Given the description of an element on the screen output the (x, y) to click on. 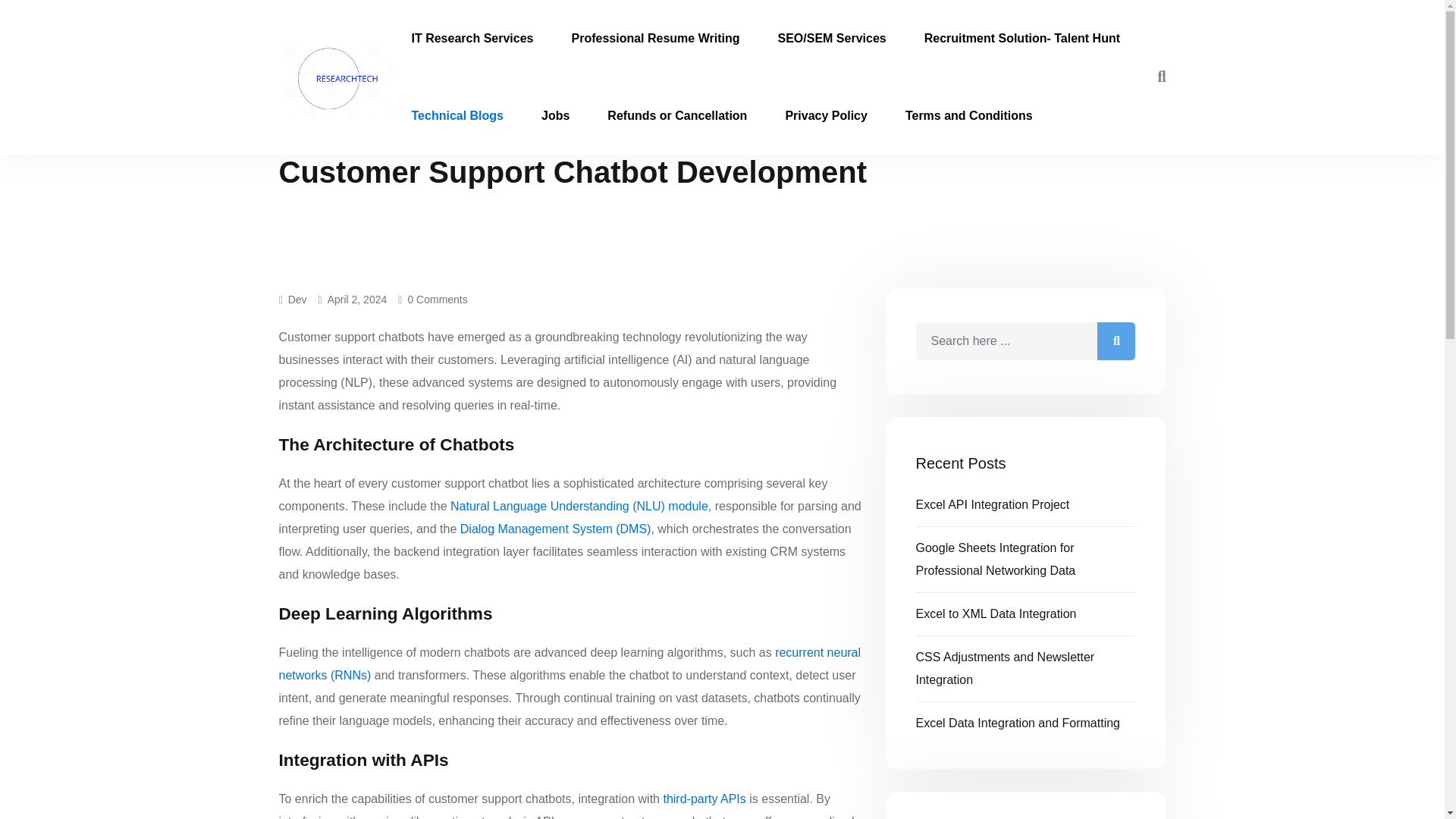
IT Research Services (473, 38)
Terms and Conditions (968, 115)
Professional Resume Writing (654, 38)
third-party APIs (703, 798)
Refunds or Cancellation (676, 115)
Recruitment Solution- Talent Hunt (1021, 38)
Privacy Policy (825, 115)
Technical Blogs (457, 115)
